Given the description of an element on the screen output the (x, y) to click on. 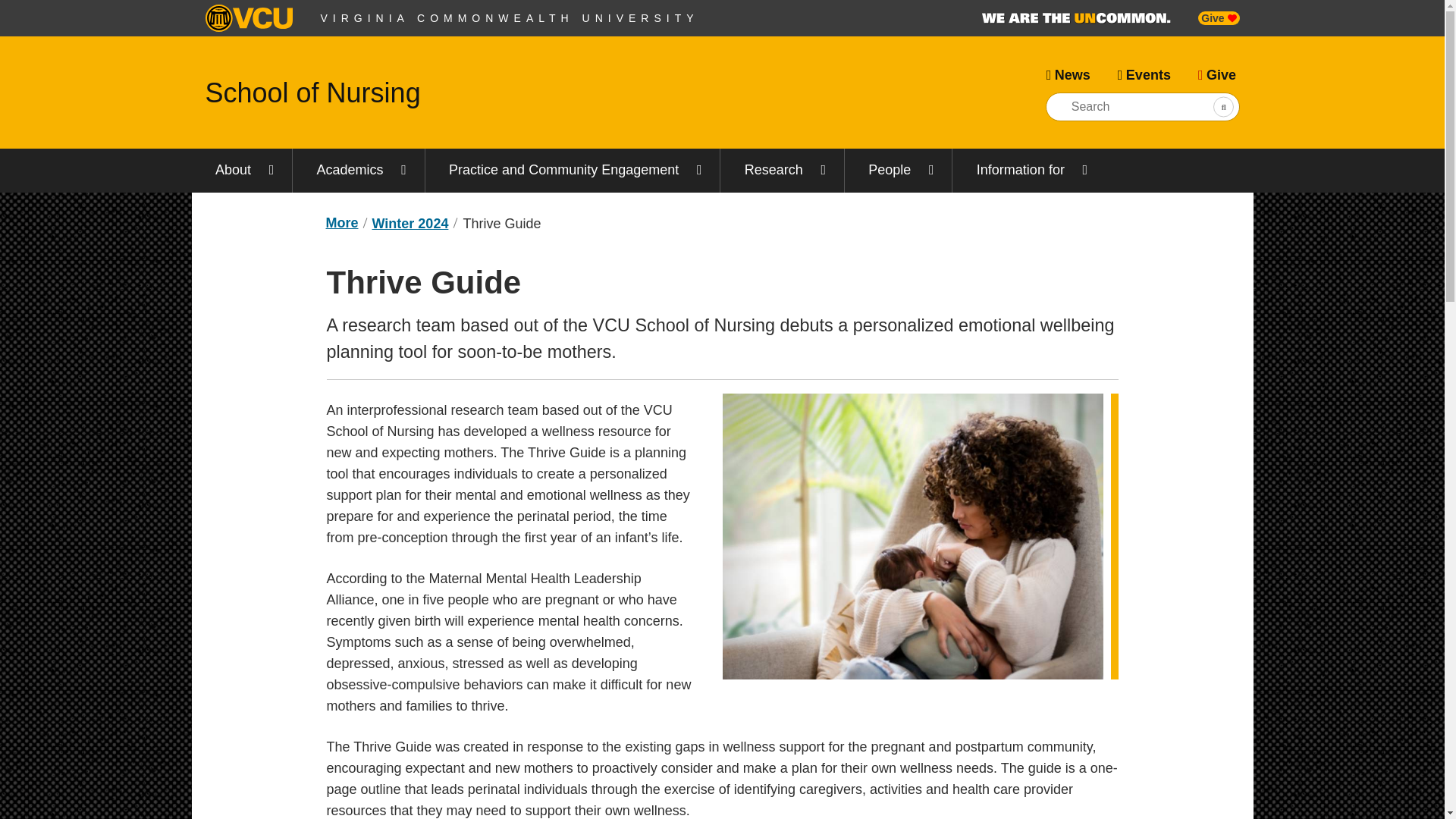
About (241, 170)
Give (1216, 74)
Events (1143, 74)
School of Nursing (312, 92)
Academics (358, 170)
News (1067, 74)
Give  (1218, 18)
We are the UNCOMMON. (1075, 17)
VIRGINIA COMMONWEALTH UNIVERSITY (509, 18)
